Given the description of an element on the screen output the (x, y) to click on. 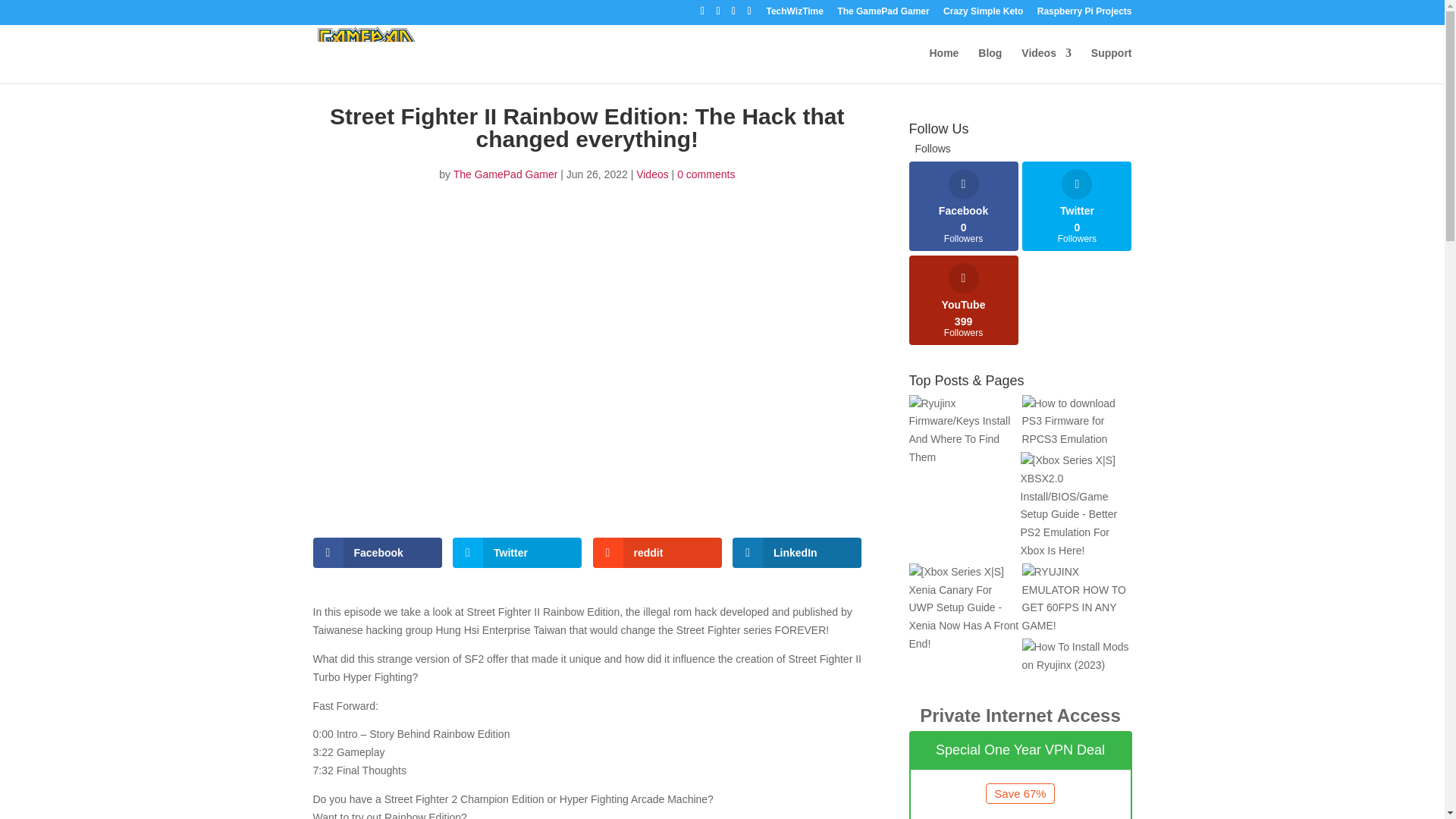
Twitter (516, 552)
Videos (652, 174)
Home (944, 65)
TechWizTime (793, 14)
RYUJINX EMULATOR HOW TO GET 60FPS IN ANY GAME! (1077, 599)
Crazy Simple Keto (983, 14)
Videos (1046, 65)
Facebook (377, 552)
Raspberry Pi Projects (1084, 14)
Blog (962, 205)
The GamePad Gamer (989, 65)
The GamePad Gamer (882, 14)
Support (504, 174)
How to download PS3 Firmware for RPCS3 Emulation (1111, 65)
